Given the description of an element on the screen output the (x, y) to click on. 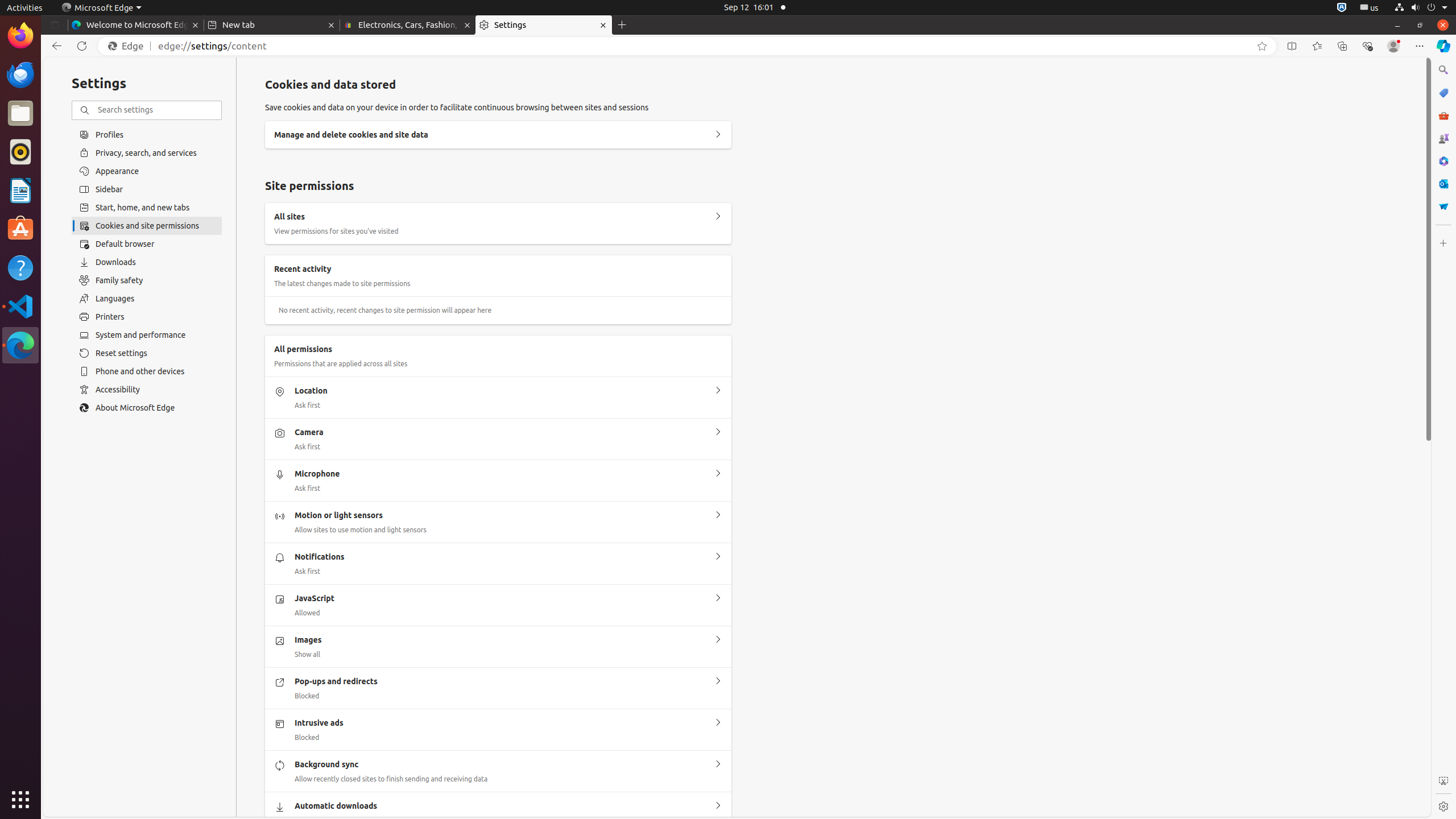
Appearance Element type: tree-item (146, 171)
Browser essentials Element type: push-button (1366, 45)
Help Element type: push-button (20, 267)
New tab Element type: page-tab (271, 25)
Accessibility Element type: tree-item (146, 389)
